Given the description of an element on the screen output the (x, y) to click on. 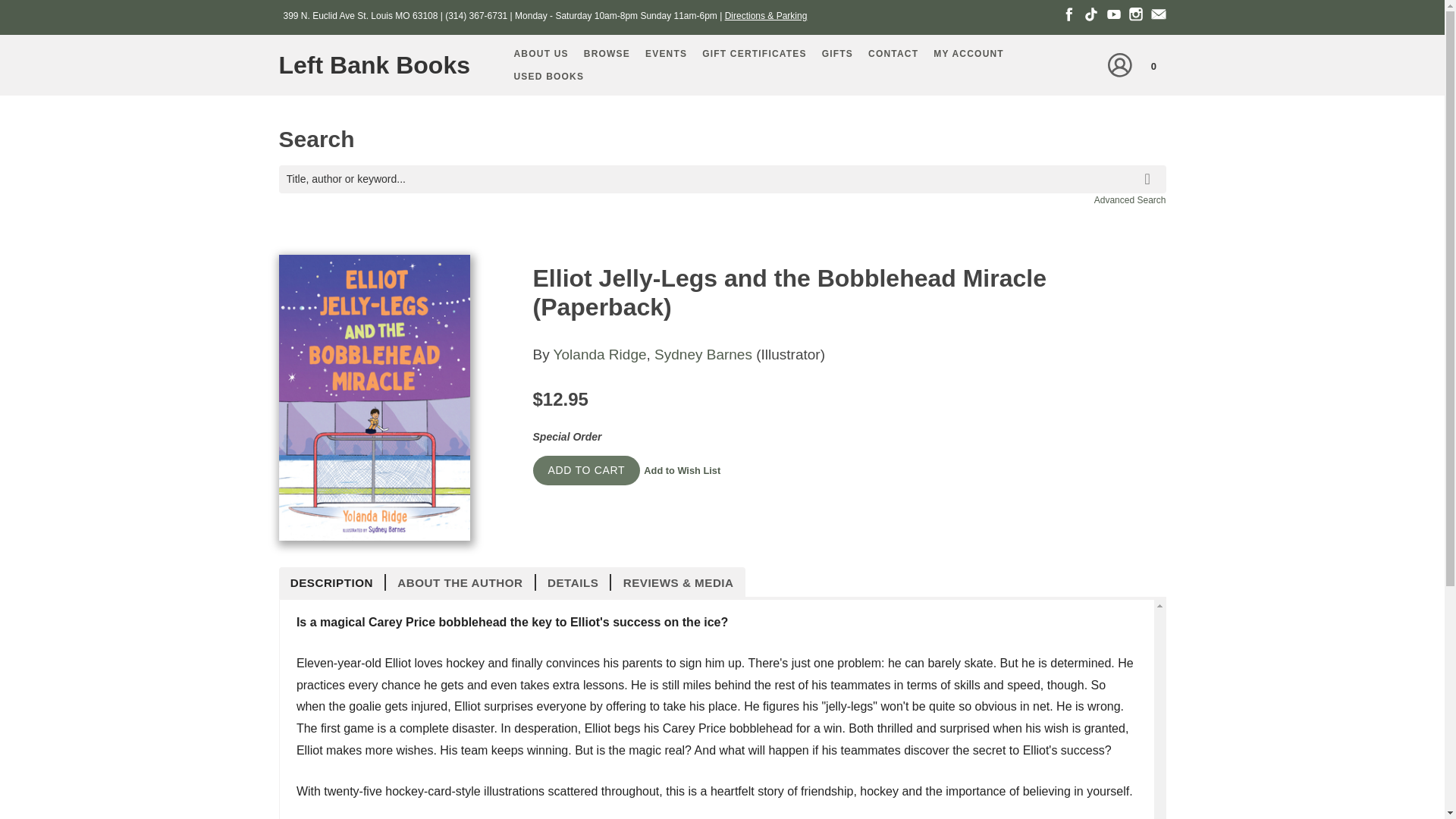
BROWSE (606, 53)
T-Shirts, Gifts and More (836, 53)
search (1150, 167)
ABOUT US (541, 53)
GIFT CERTIFICATES (753, 53)
Add to Cart (586, 470)
GIFTS (836, 53)
EVENTS (665, 53)
Left Bank Books (381, 64)
Title, author or keyword... (722, 179)
Home (381, 64)
